Given the description of an element on the screen output the (x, y) to click on. 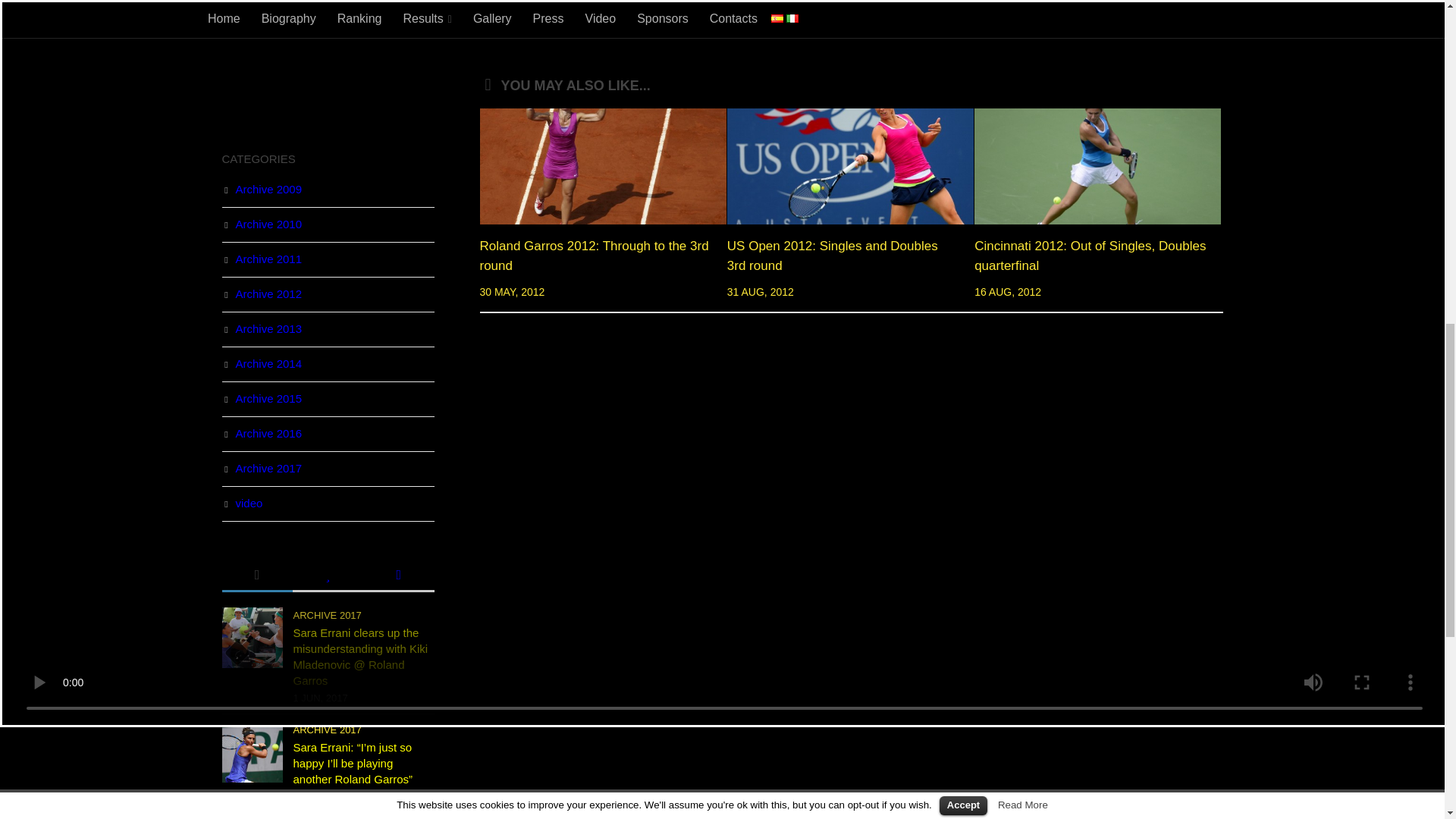
US Open 2012: Singles and Doubles 3rd round (831, 255)
Cincinnati 2012: Out of Singles, Doubles quarterfinal (1097, 166)
Cincinnati 2012: Out of Singles, Doubles quarterfinal (1089, 255)
US Open 2012: Singles and Doubles 3rd round (850, 166)
Roland Garros 2012: Through to the 3rd round (593, 255)
Roland Garros 2012: Through to the 3rd round (602, 166)
Share (522, 23)
Roland Garros 2012: Through to the 3rd round (593, 255)
